Given the description of an element on the screen output the (x, y) to click on. 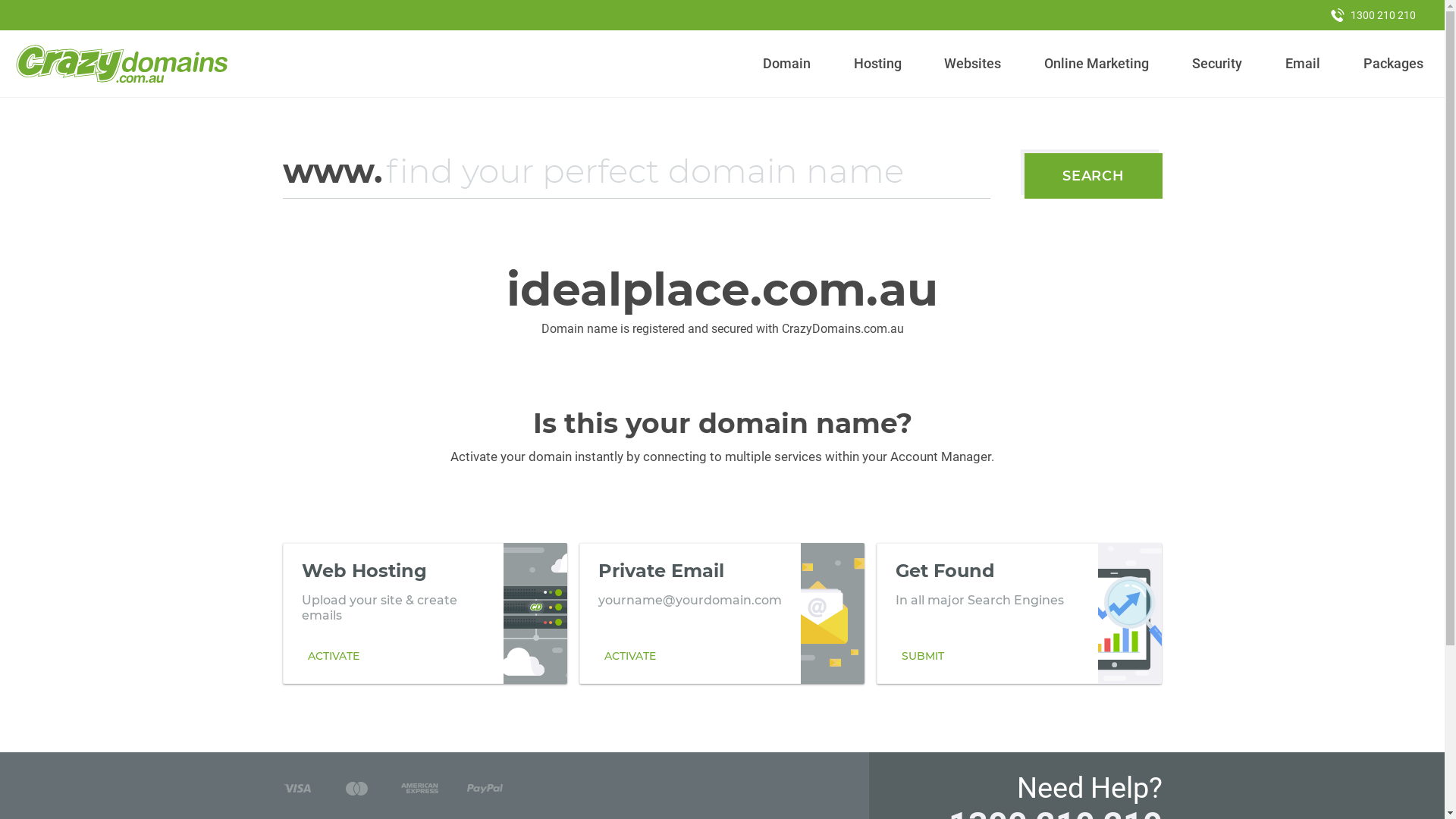
Get Found
In all major Search Engines
SUBMIT Element type: text (1018, 613)
Security Element type: text (1217, 63)
1300 210 210 Element type: text (1373, 15)
Websites Element type: text (972, 63)
Domain Element type: text (786, 63)
Web Hosting
Upload your site & create emails
ACTIVATE Element type: text (424, 613)
Private Email
yourname@yourdomain.com
ACTIVATE Element type: text (721, 613)
Email Element type: text (1302, 63)
Online Marketing Element type: text (1096, 63)
Hosting Element type: text (877, 63)
Packages Element type: text (1392, 63)
SEARCH Element type: text (1092, 175)
